Given the description of an element on the screen output the (x, y) to click on. 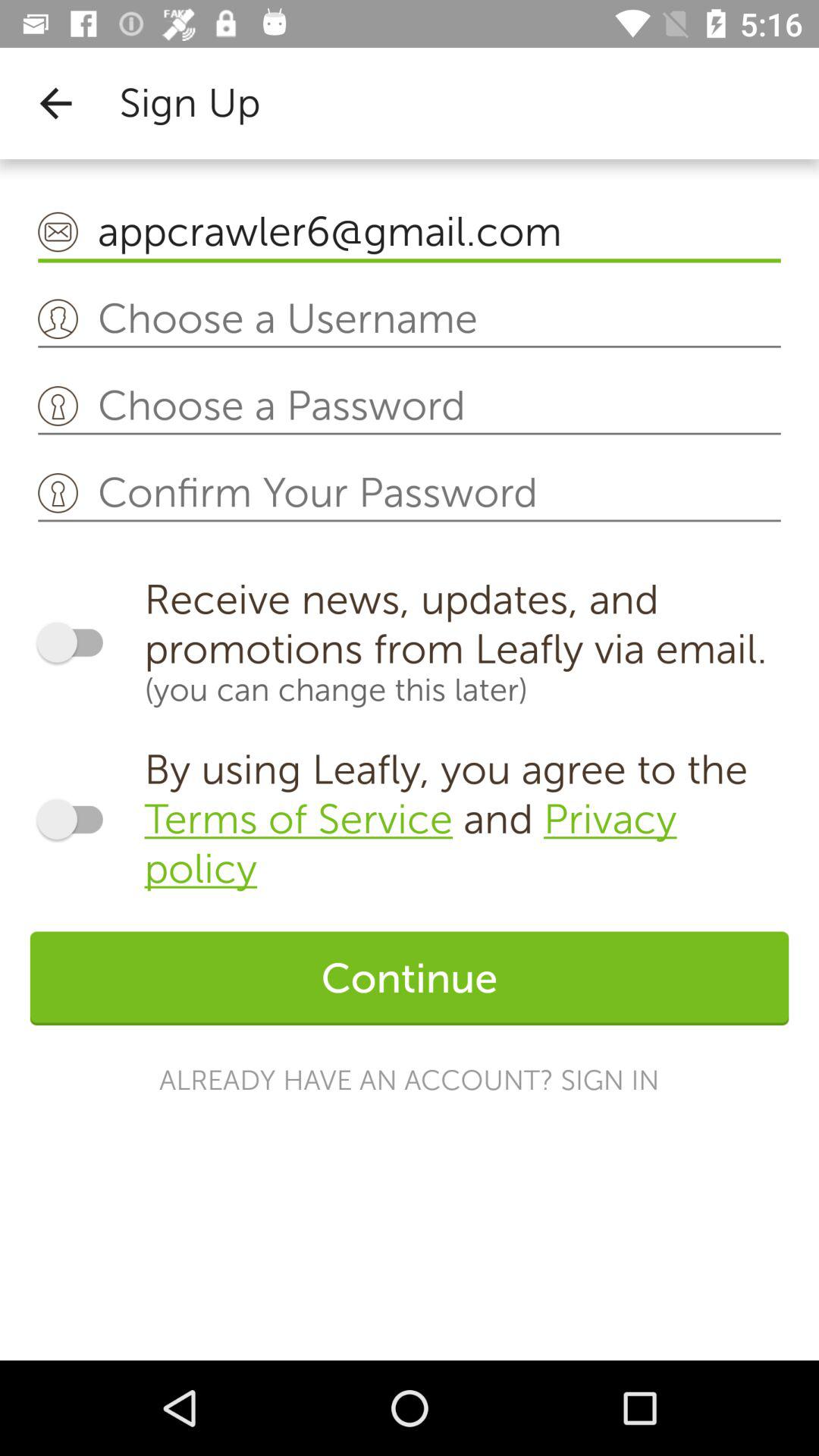
agree to terms (77, 819)
